Given the description of an element on the screen output the (x, y) to click on. 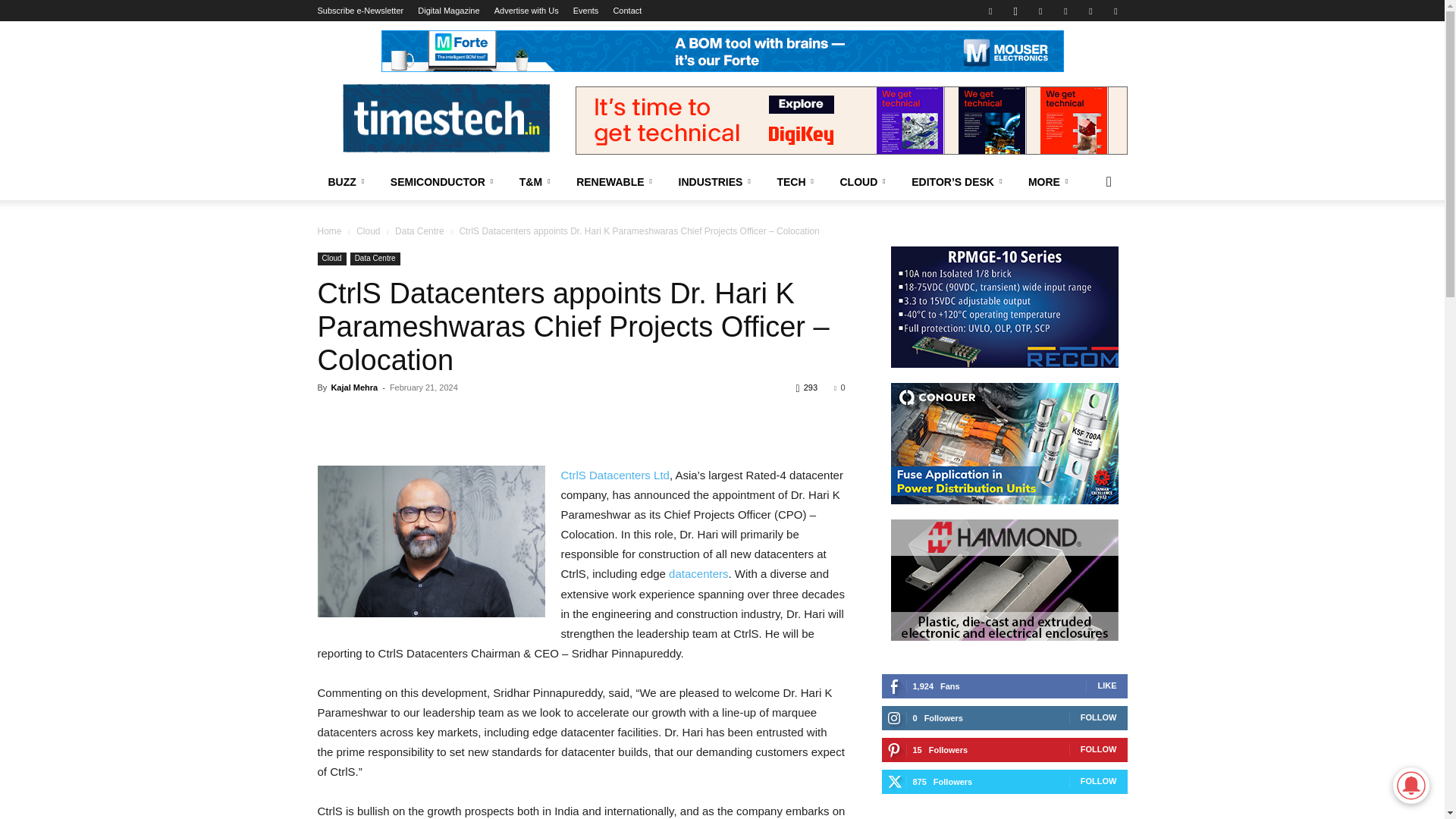
Twitter (1090, 10)
Youtube (1114, 10)
Tumblr (1065, 10)
advertisement (721, 51)
Facebook (989, 10)
Instagram (1015, 10)
Linkedin (1040, 10)
View all posts in Data Centre (419, 231)
View all posts in Cloud (368, 231)
